Given the description of an element on the screen output the (x, y) to click on. 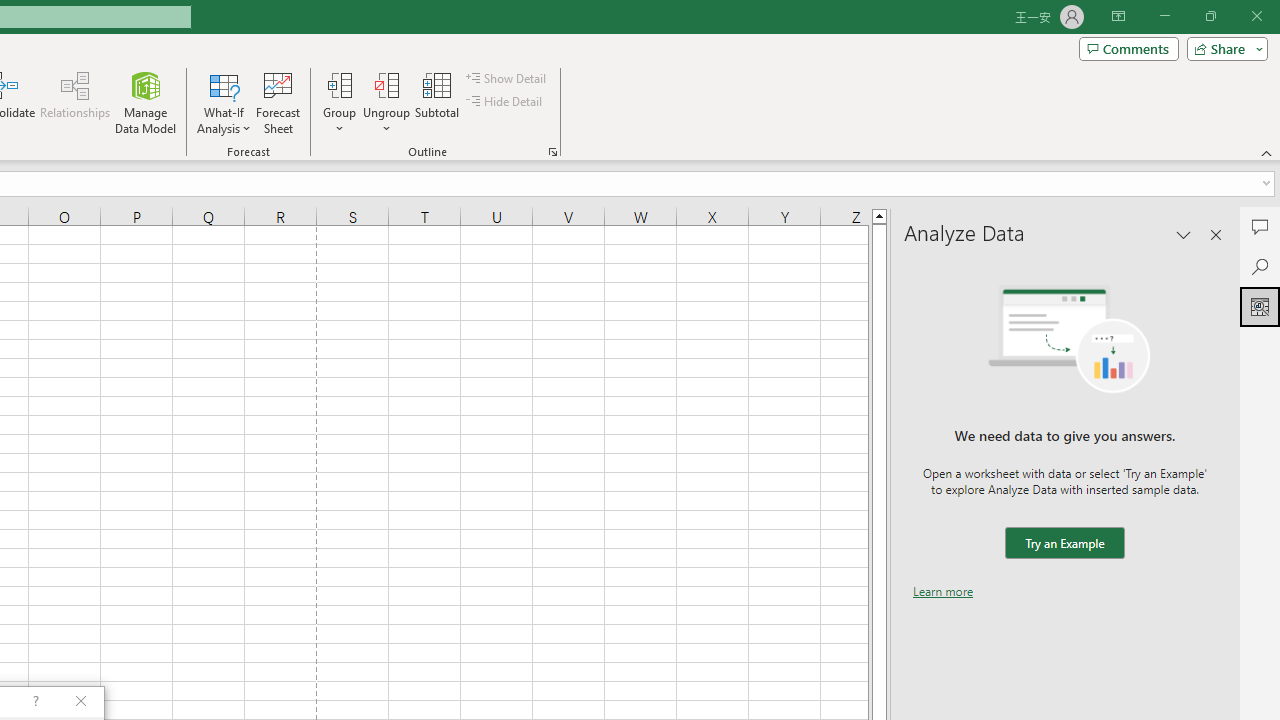
Ungroup... (386, 84)
Line up (879, 215)
Subtotal (437, 102)
Learn more (943, 591)
Manage Data Model (145, 102)
We need data to give you answers. Try an Example (1064, 543)
Hide Detail (505, 101)
Group... (339, 84)
Close pane (1215, 234)
Forecast Sheet (278, 102)
Group and Outline Settings (552, 151)
Analyze Data (1260, 306)
Relationships (75, 102)
Collapse the Ribbon (1267, 152)
